Given the description of an element on the screen output the (x, y) to click on. 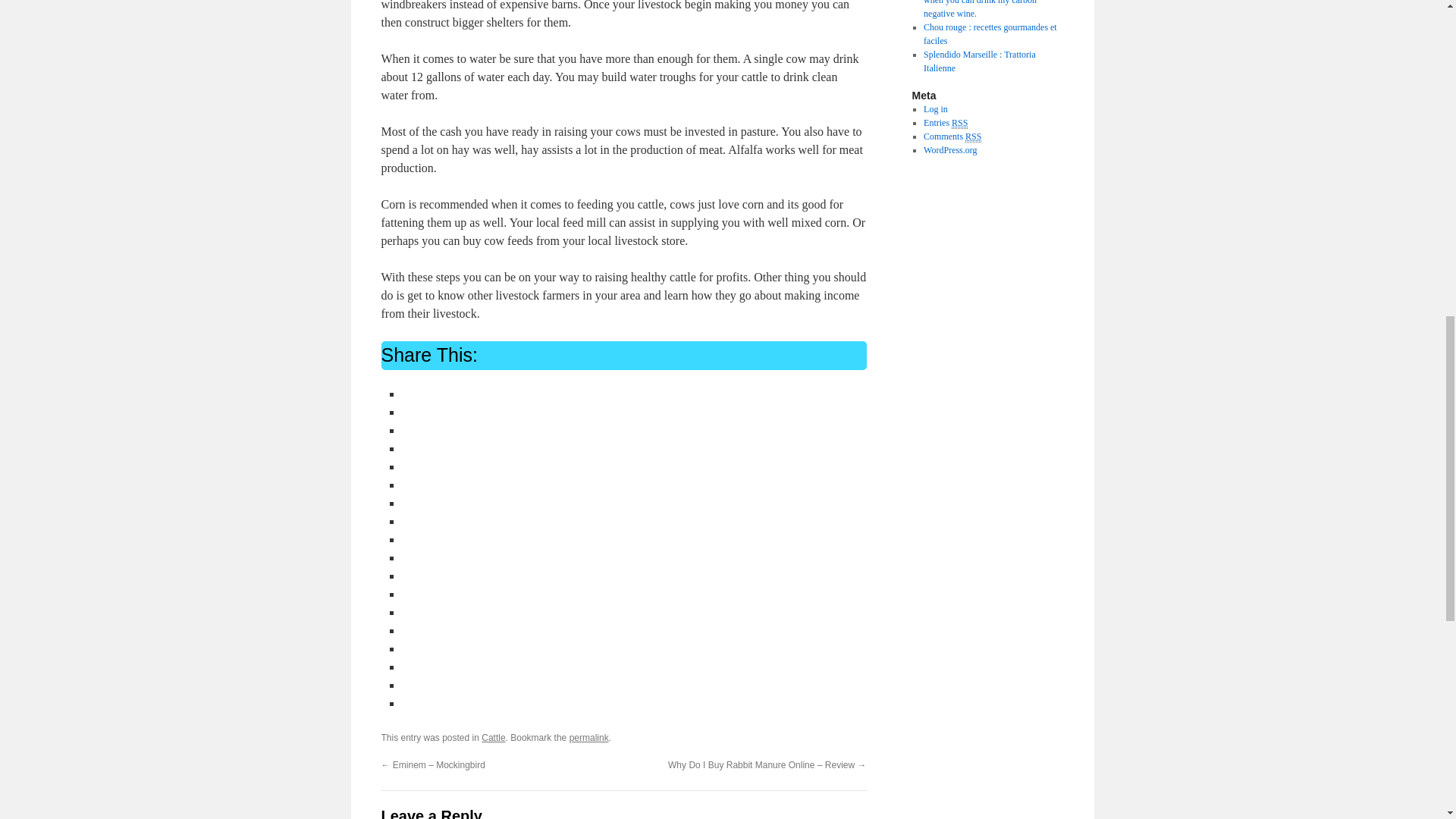
Really Simple Syndication (960, 122)
Really Simple Syndication (973, 136)
Cattle (493, 737)
